Given the description of an element on the screen output the (x, y) to click on. 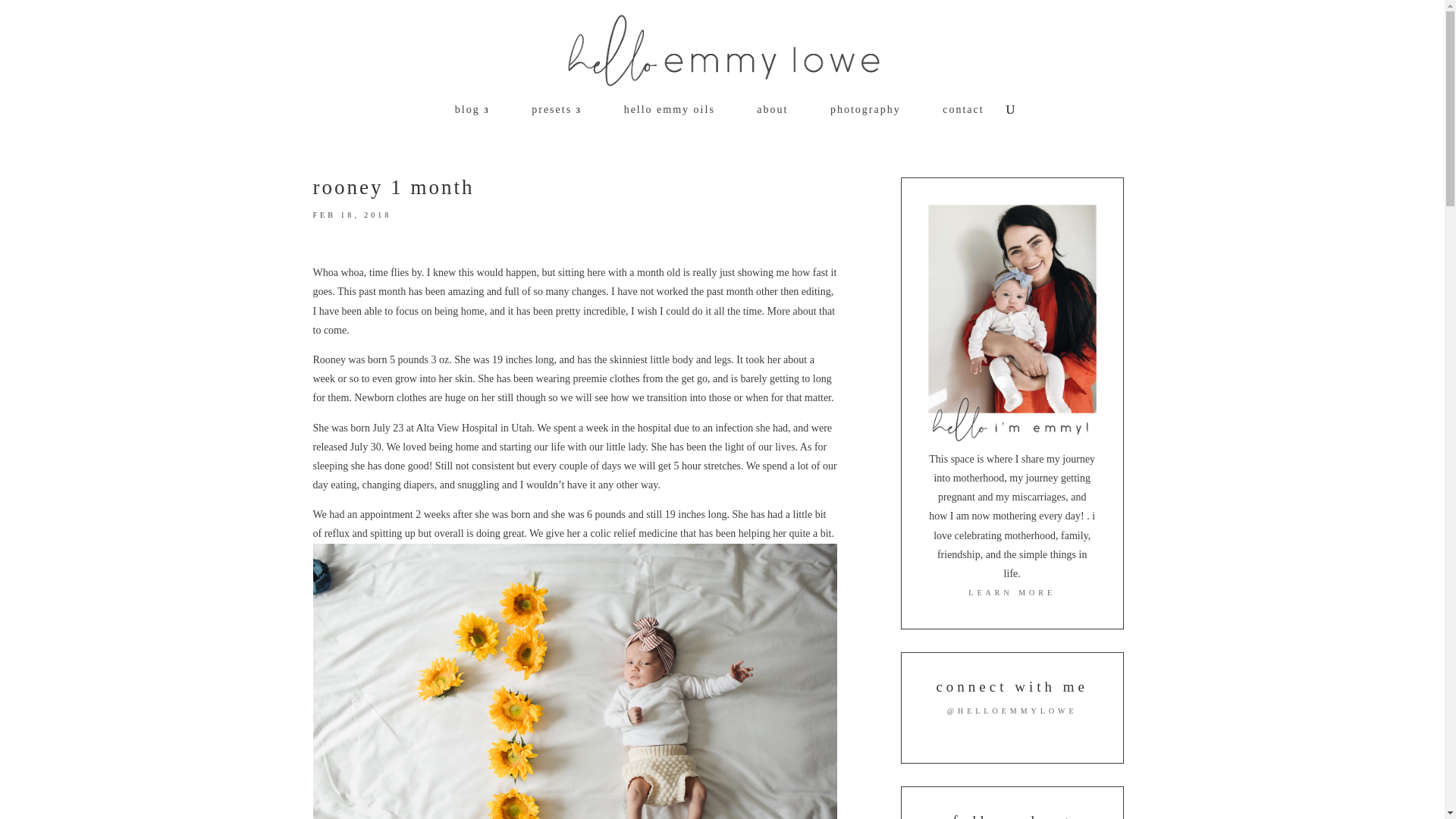
contact (955, 118)
about (764, 118)
hello emmy oils (661, 118)
photography (858, 118)
presets (548, 118)
blog (464, 118)
